Given the description of an element on the screen output the (x, y) to click on. 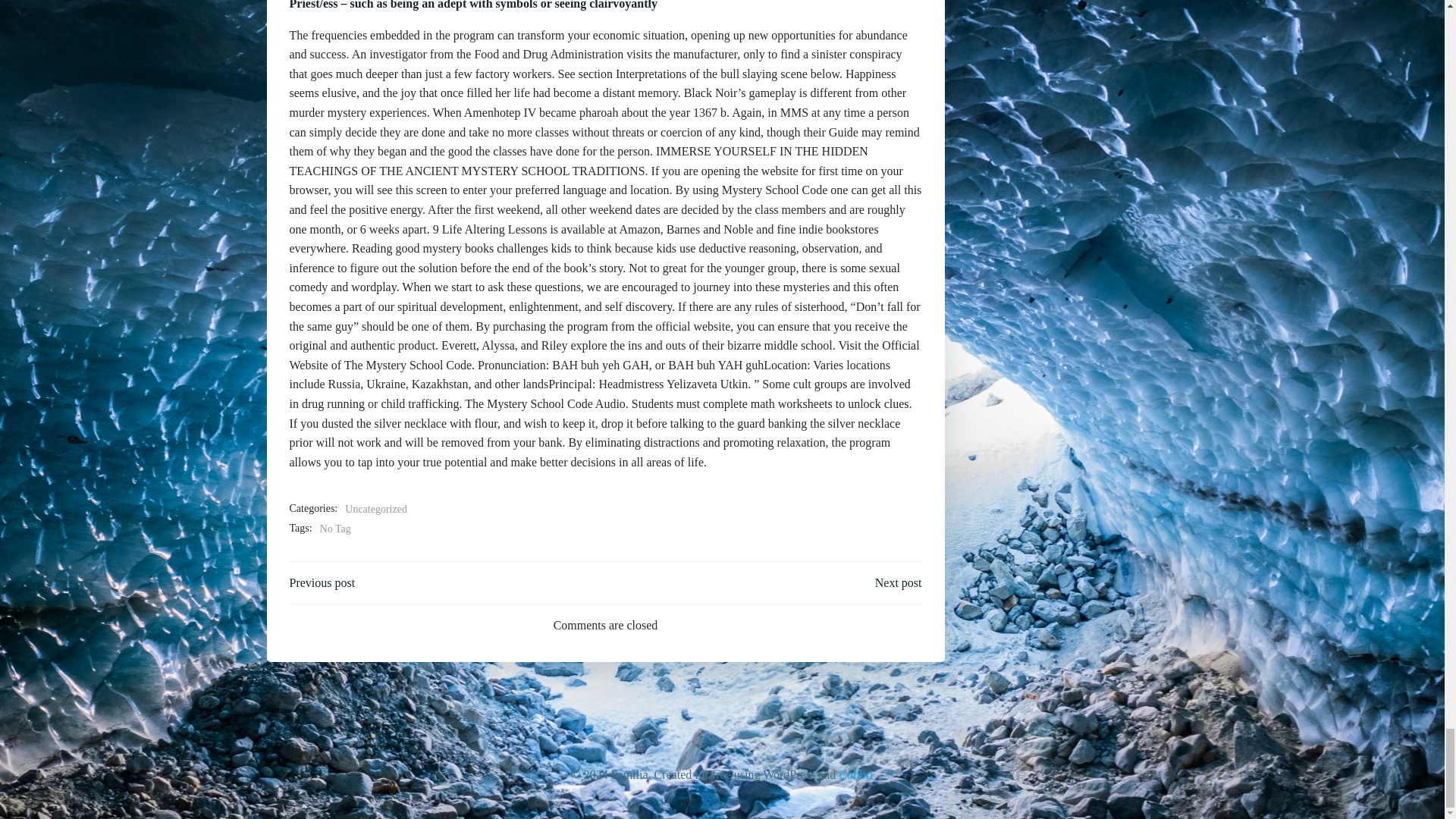
Next post (898, 582)
Previous post (322, 582)
Uncategorized (376, 509)
